Given the description of an element on the screen output the (x, y) to click on. 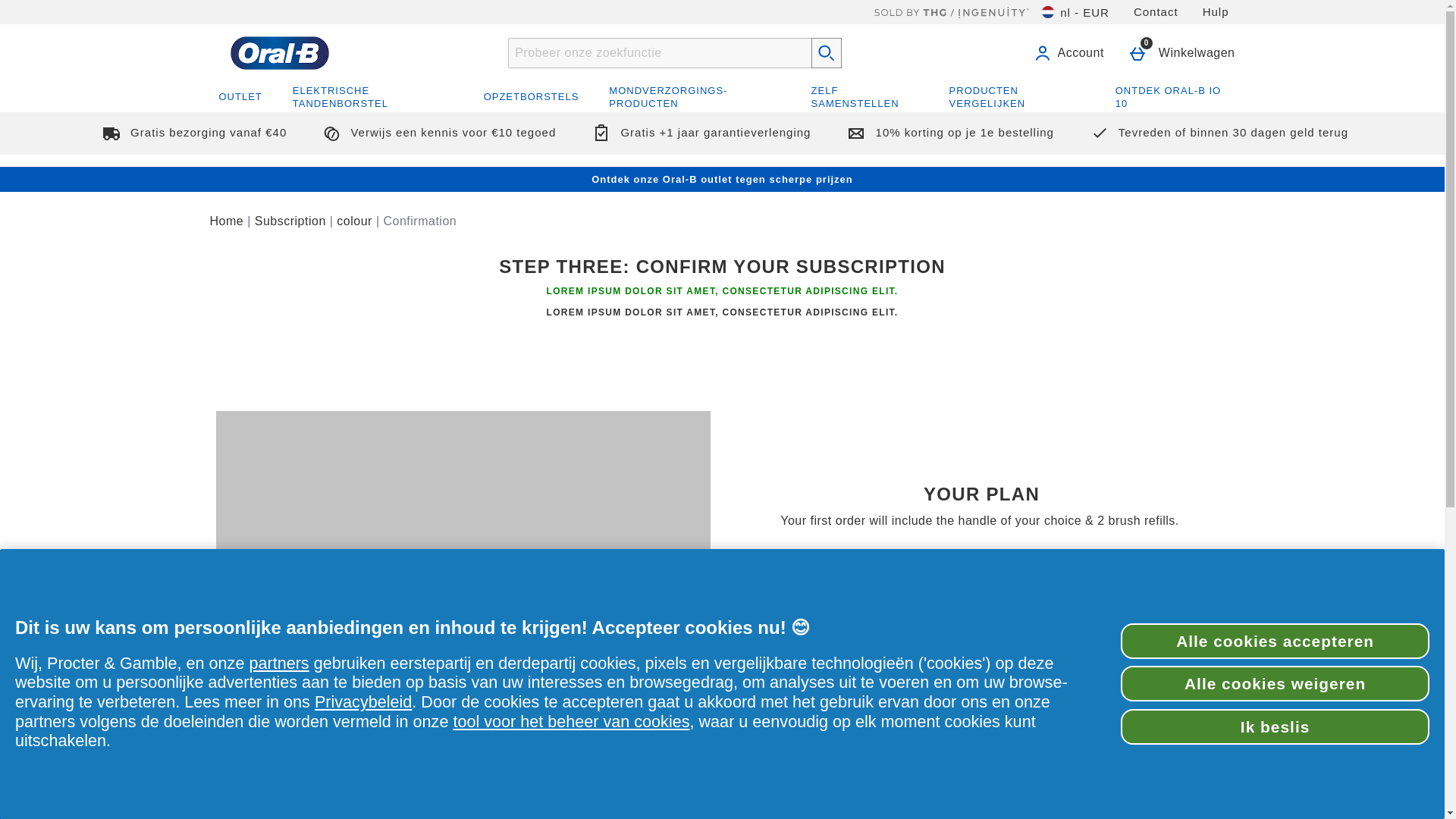
Hulp (1216, 12)
colour (354, 220)
Subscription (290, 220)
nl - EUR (1075, 12)
OUTLET (239, 96)
ELEKTRISCHE TANDENBORSTEL (373, 96)
Start zoekopdracht (825, 52)
Ga door naar belangrijkste inhoud (97, 6)
Contact (1156, 12)
OPZETBORSTELS (531, 96)
Account (1071, 52)
